Given the description of an element on the screen output the (x, y) to click on. 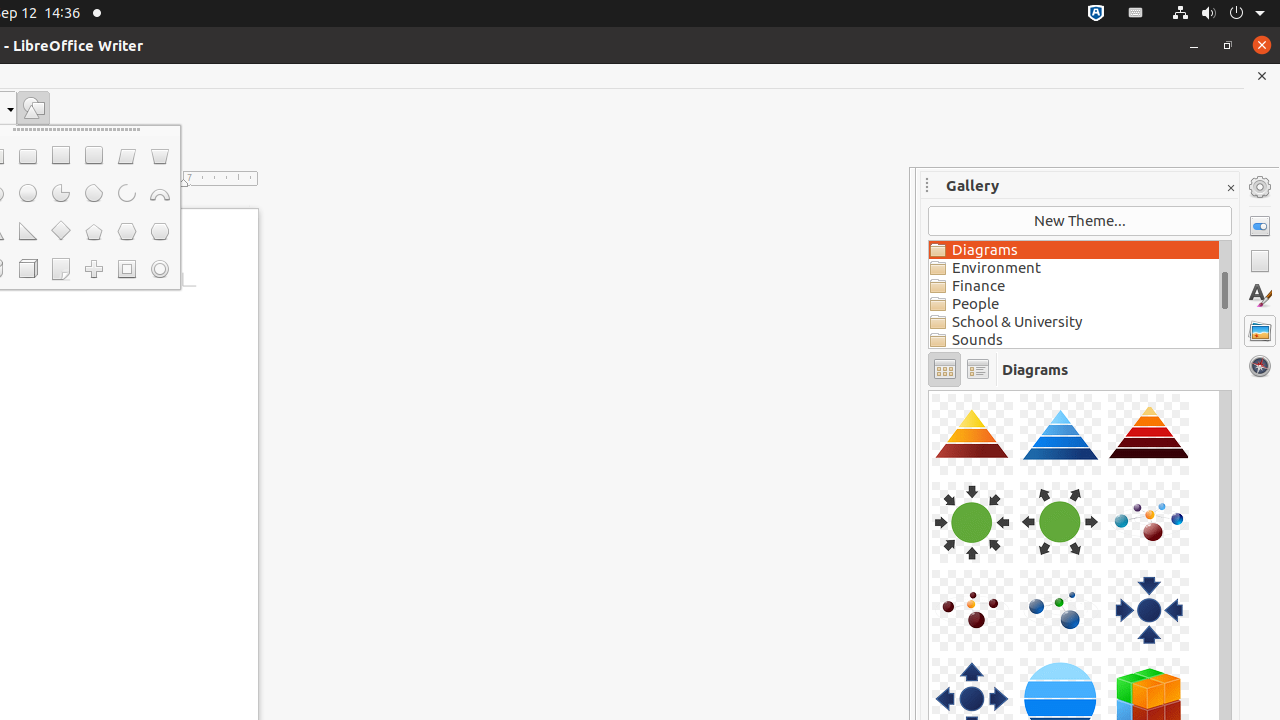
Navigator Element type: radio-button (1260, 366)
Detailed View Element type: toggle-button (977, 369)
Component-Person05-Orange Element type: list-item (929, 390)
Gallery Element type: radio-button (1260, 331)
Component-Circle02-Transparent-Bule Element type: list-item (929, 390)
